Given the description of an element on the screen output the (x, y) to click on. 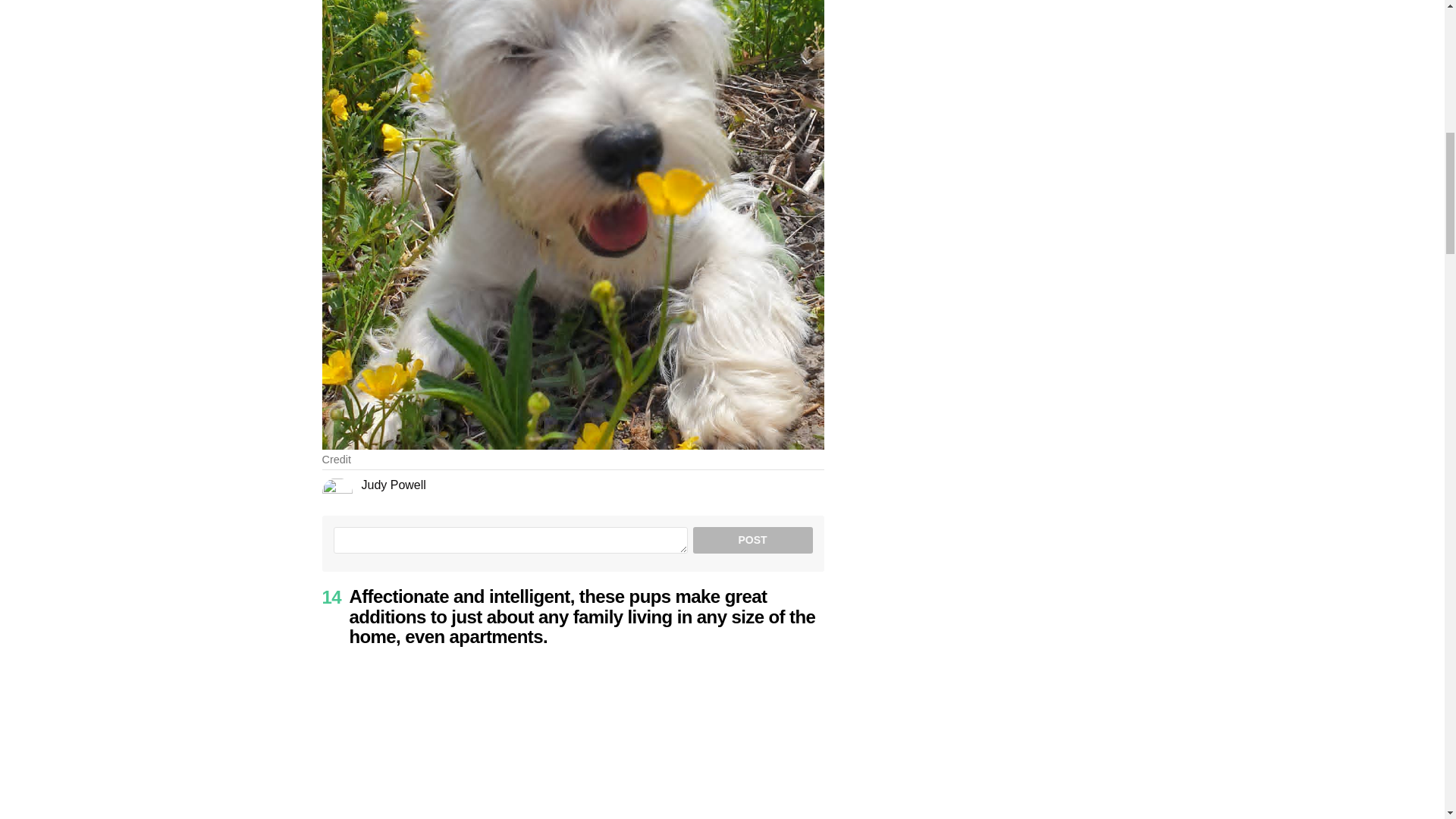
Post (752, 540)
Post (752, 540)
Judy Powell (393, 484)
Credit (335, 459)
